Given the description of an element on the screen output the (x, y) to click on. 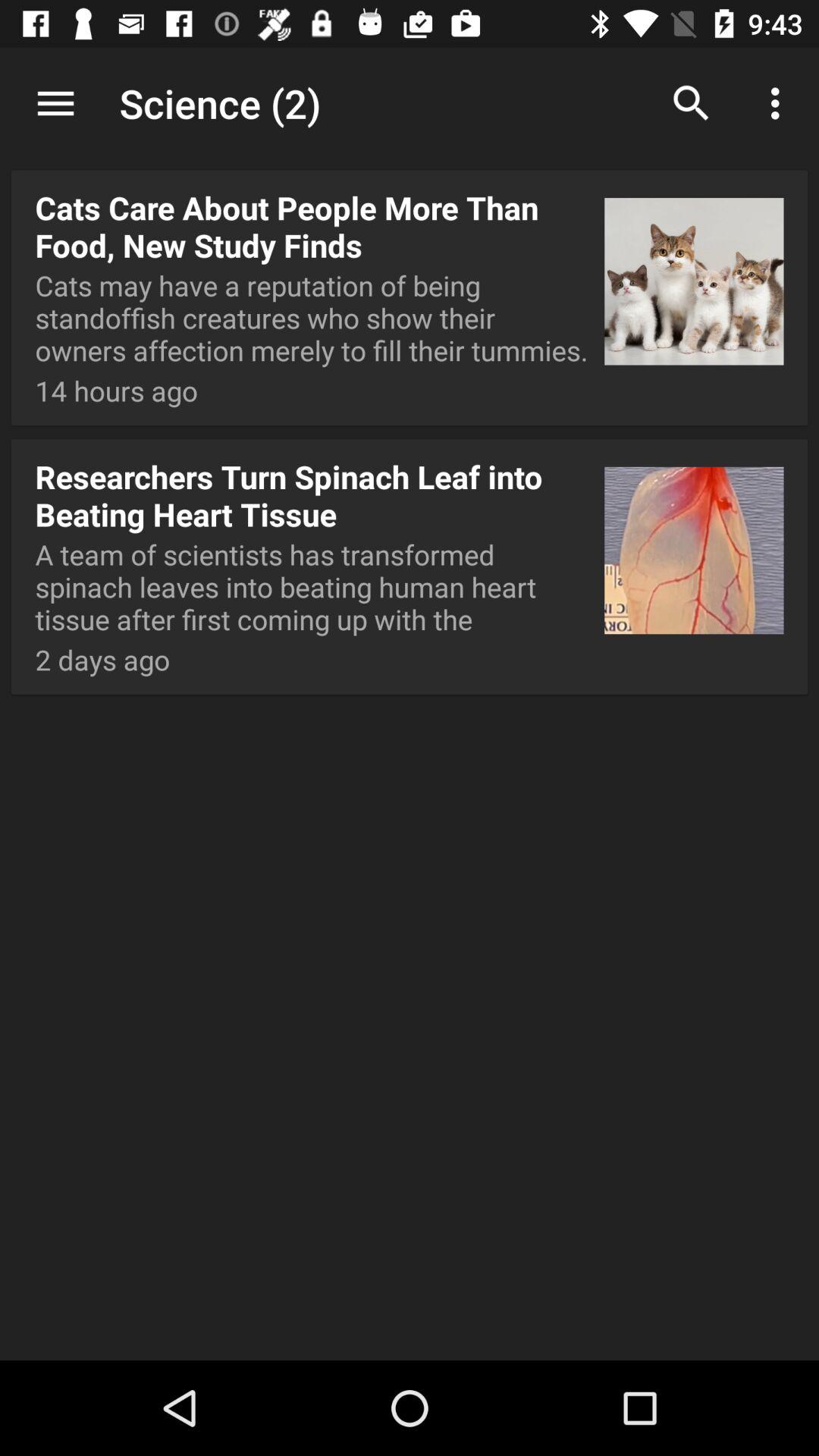
launch icon below the 2 days ago app (409, 1310)
